Given the description of an element on the screen output the (x, y) to click on. 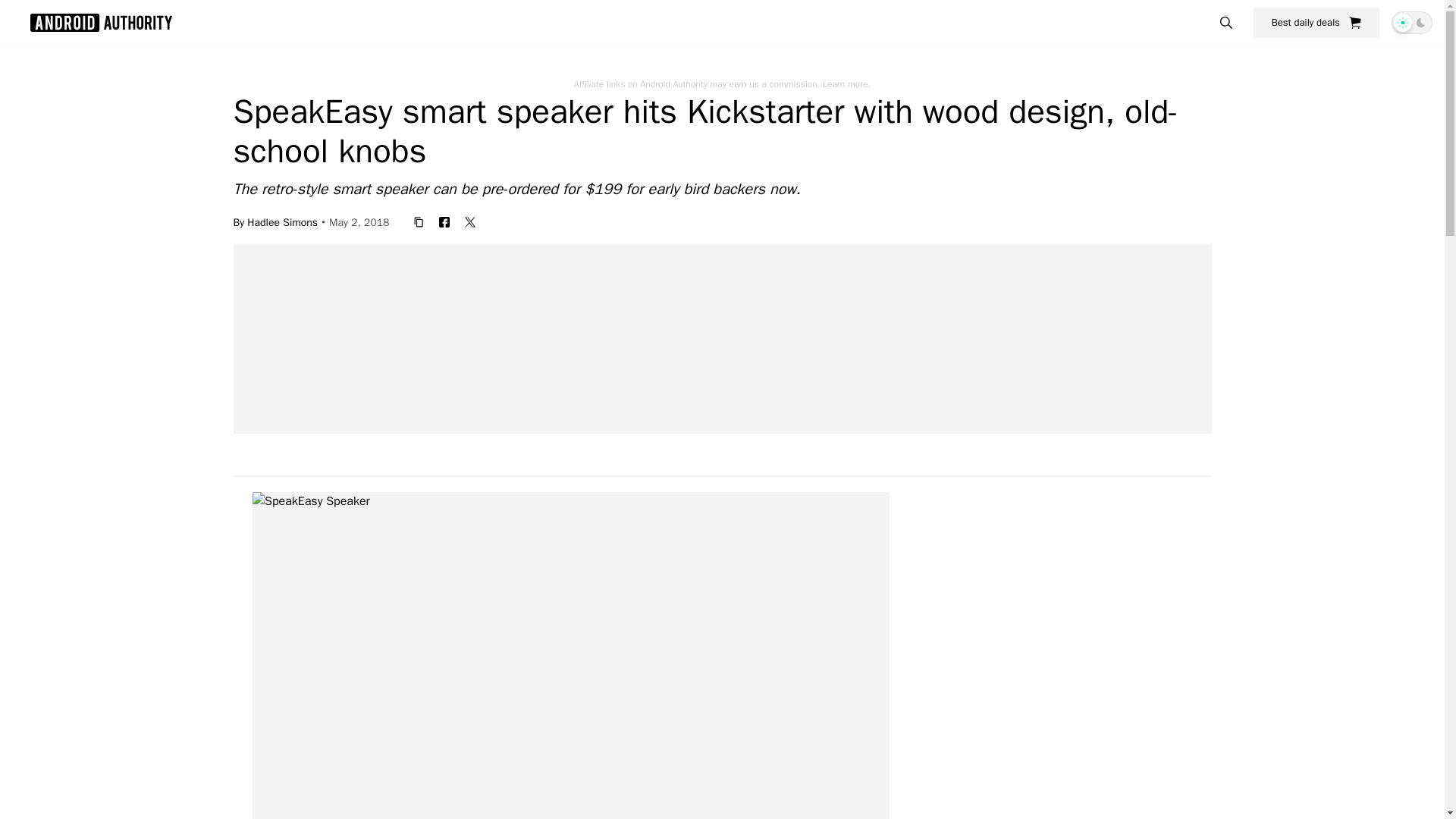
Learn more. (846, 83)
Best daily deals (1315, 22)
Hadlee Simons (282, 221)
twitter (470, 222)
facebook (443, 222)
